Given the description of an element on the screen output the (x, y) to click on. 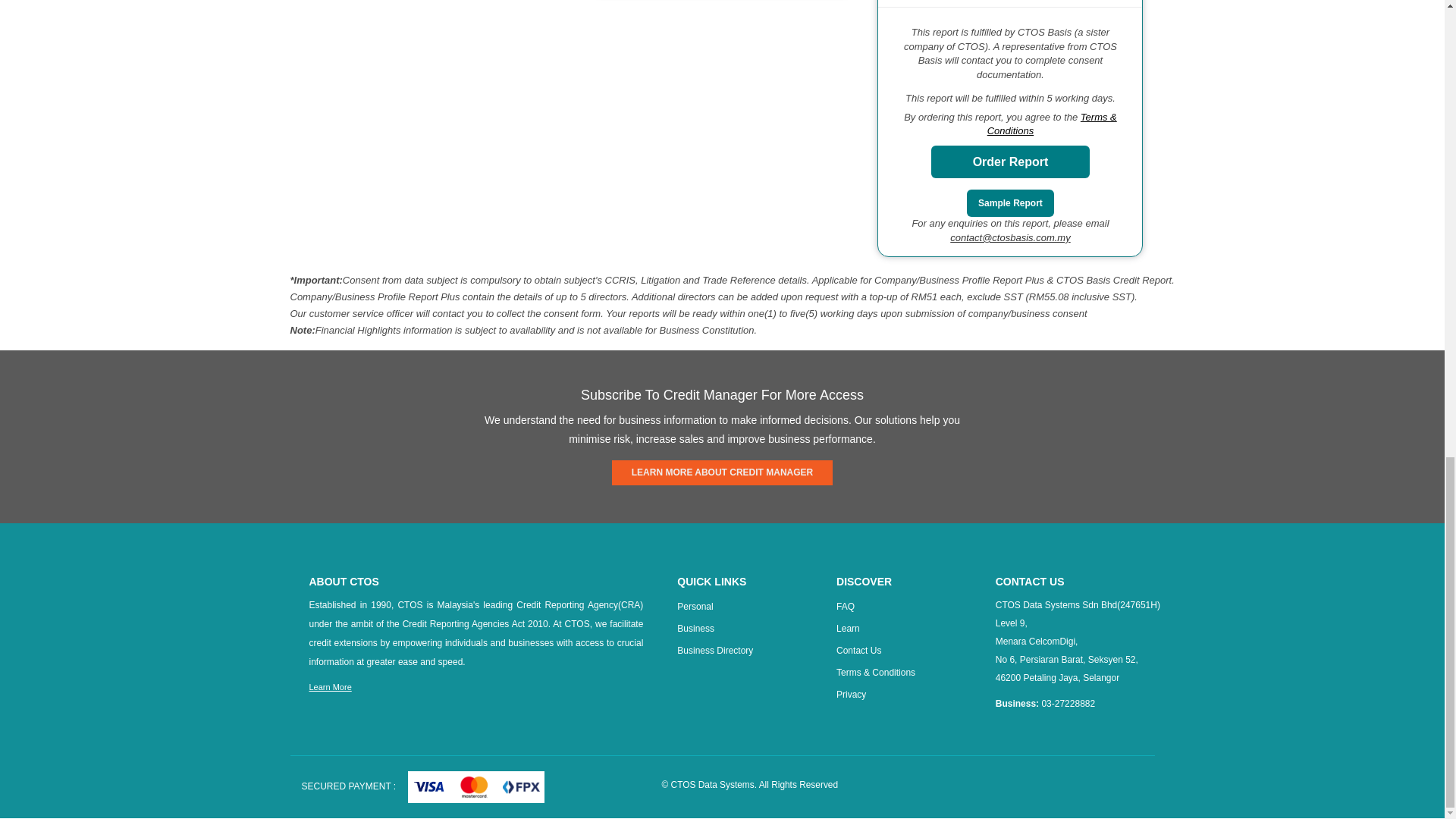
Order Report (1010, 161)
Personal (695, 606)
Privacy (850, 694)
Contact Us (857, 650)
Sample Report (1010, 203)
Business Directory (714, 650)
Learn (847, 628)
Learn More (330, 686)
LEARN MORE ABOUT CREDIT MANAGER (721, 472)
Business (695, 628)
FAQ (844, 606)
